Given the description of an element on the screen output the (x, y) to click on. 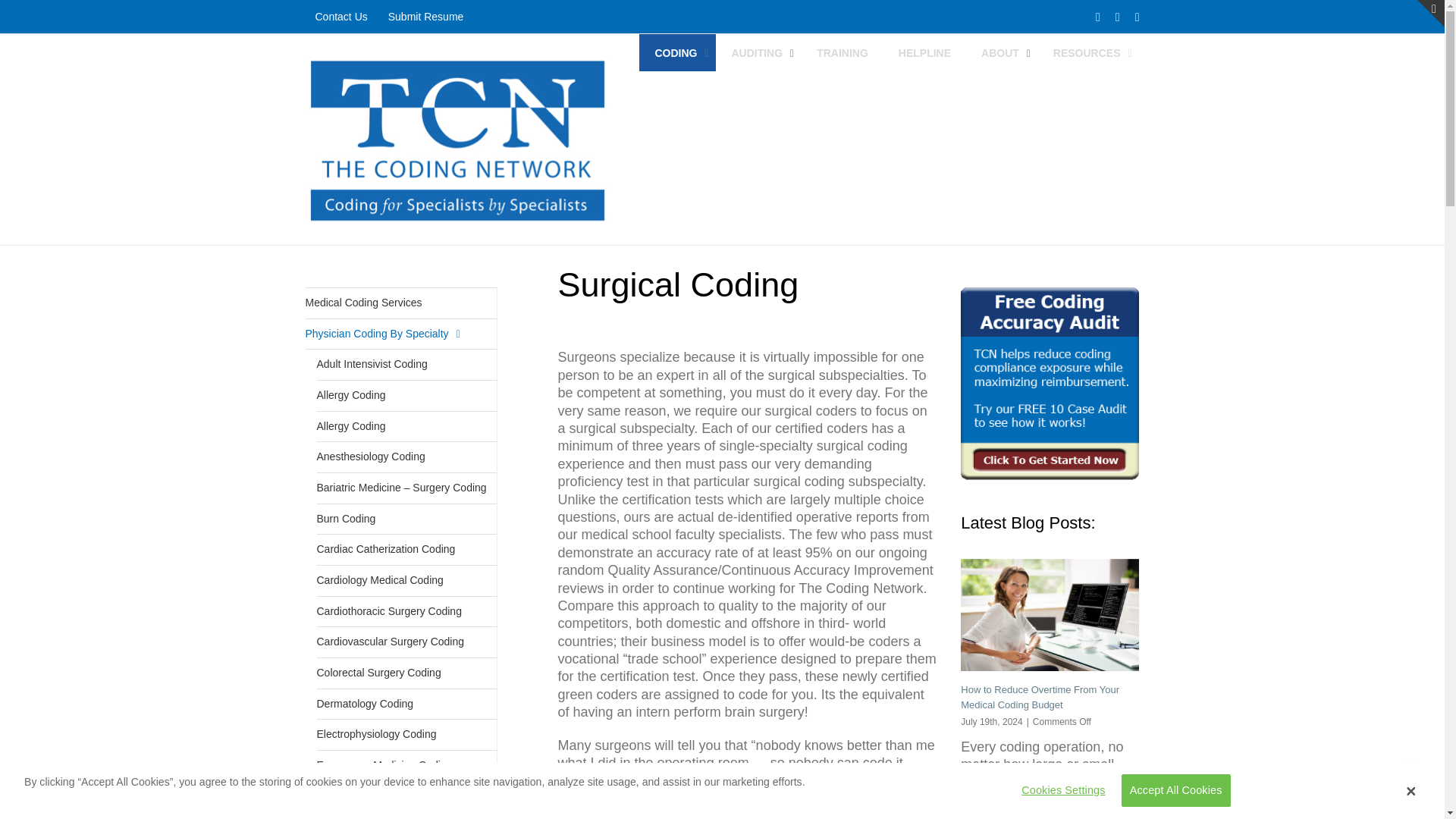
Submit Resume (426, 16)
Back to Parent Page (400, 303)
Contact Us (340, 16)
CODING (677, 52)
